Given the description of an element on the screen output the (x, y) to click on. 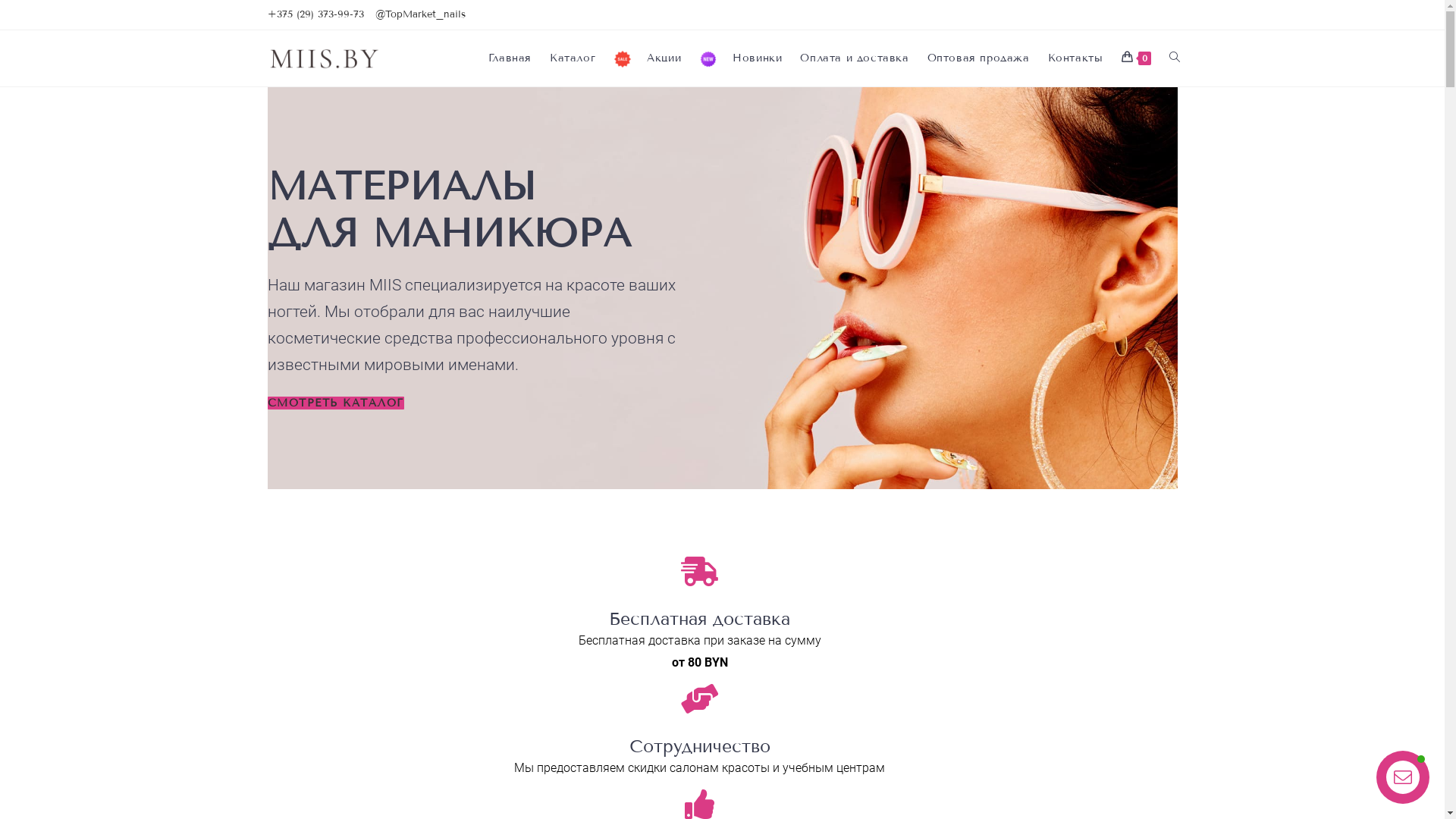
@TopMarket_nails Element type: text (419, 14)
0 Element type: text (1135, 58)
+375 (29) 373-99-73 Element type: text (314, 14)
